Given the description of an element on the screen output the (x, y) to click on. 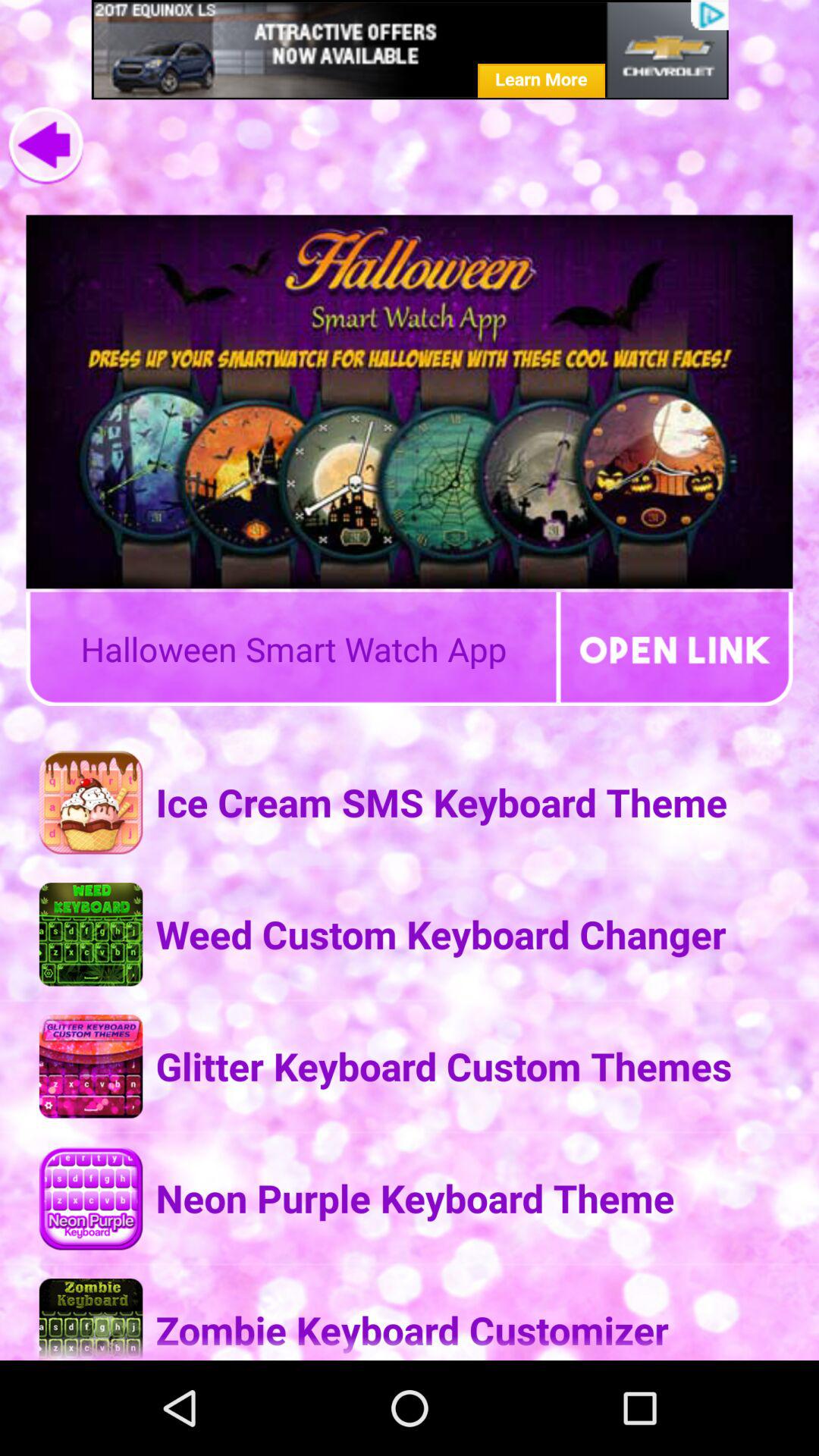
bock button (45, 145)
